Given the description of an element on the screen output the (x, y) to click on. 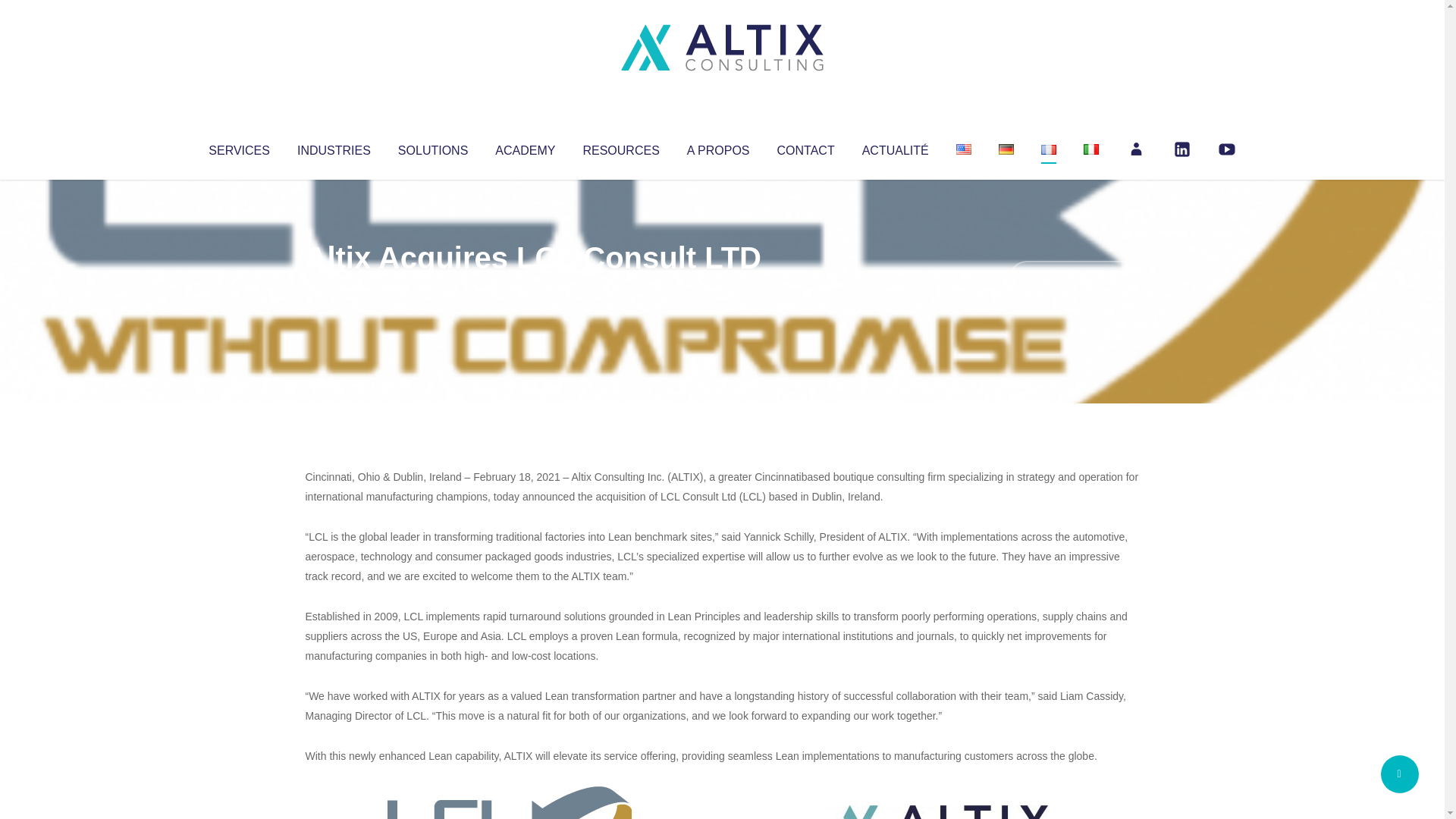
RESOURCES (620, 146)
SOLUTIONS (432, 146)
Uncategorized (530, 287)
ACADEMY (524, 146)
Articles par Altix (333, 287)
SERVICES (238, 146)
INDUSTRIES (334, 146)
Altix (333, 287)
No Comments (1073, 278)
A PROPOS (718, 146)
